Given the description of an element on the screen output the (x, y) to click on. 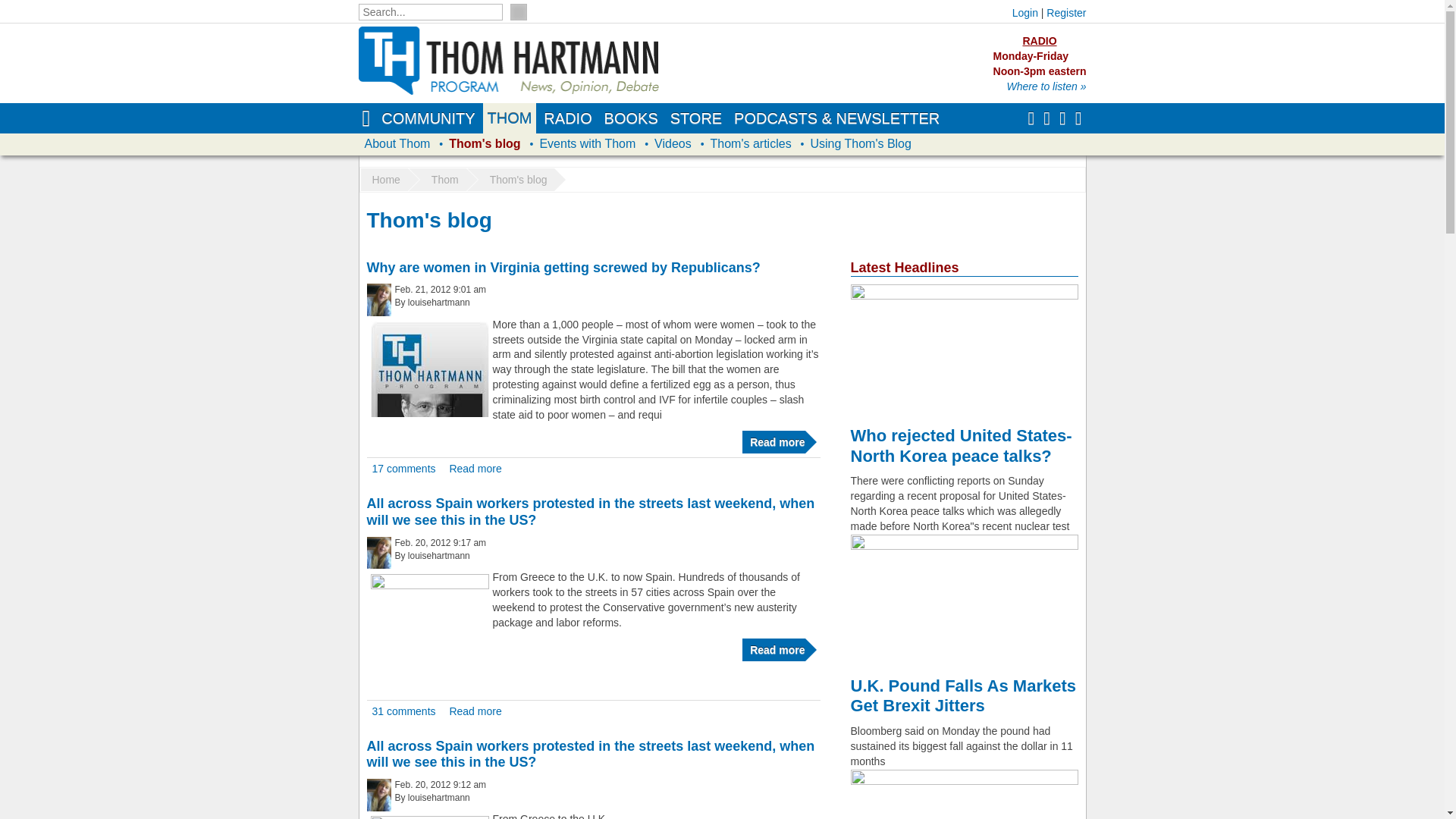
BOOKS (630, 118)
Thom's articles (750, 144)
Events with Thom (587, 144)
Search (517, 12)
Thom's books (630, 118)
Login (1024, 12)
About Thom (396, 144)
Search (517, 12)
Enter the terms you wish to search for. (430, 12)
Videos (672, 144)
Thom's blog (483, 144)
THOM (510, 118)
Using Thom's Blog (860, 144)
COMMUNITY (428, 118)
RADIO (566, 118)
